Given the description of an element on the screen output the (x, y) to click on. 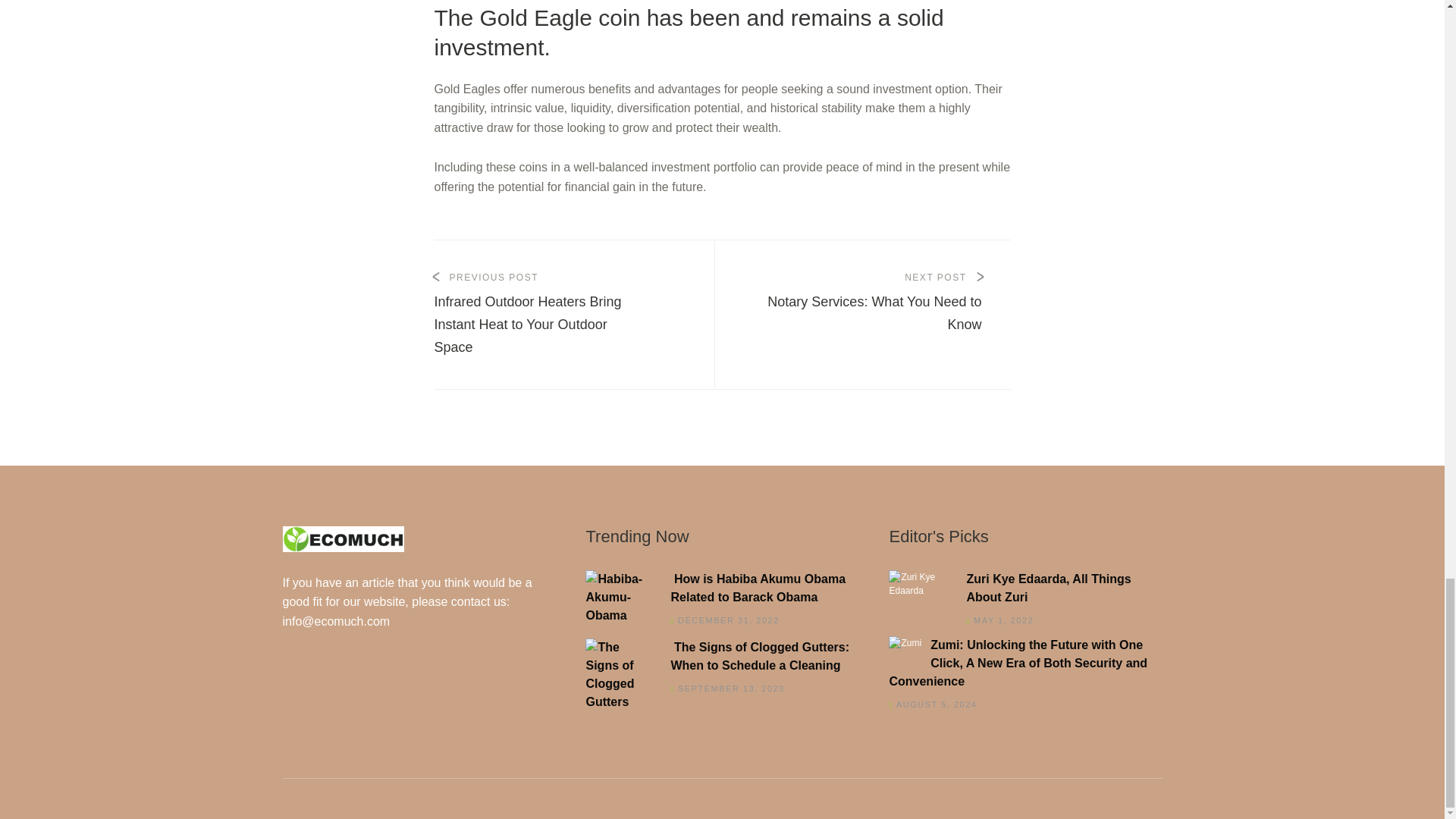
Zuri Kye Edaarda, All Things About Zuri (1021, 588)
 The Signs of Clogged Gutters: When to Schedule a Cleaning (717, 656)
 How is Habiba Akumu Obama Related to Barack Obama (873, 303)
